Given the description of an element on the screen output the (x, y) to click on. 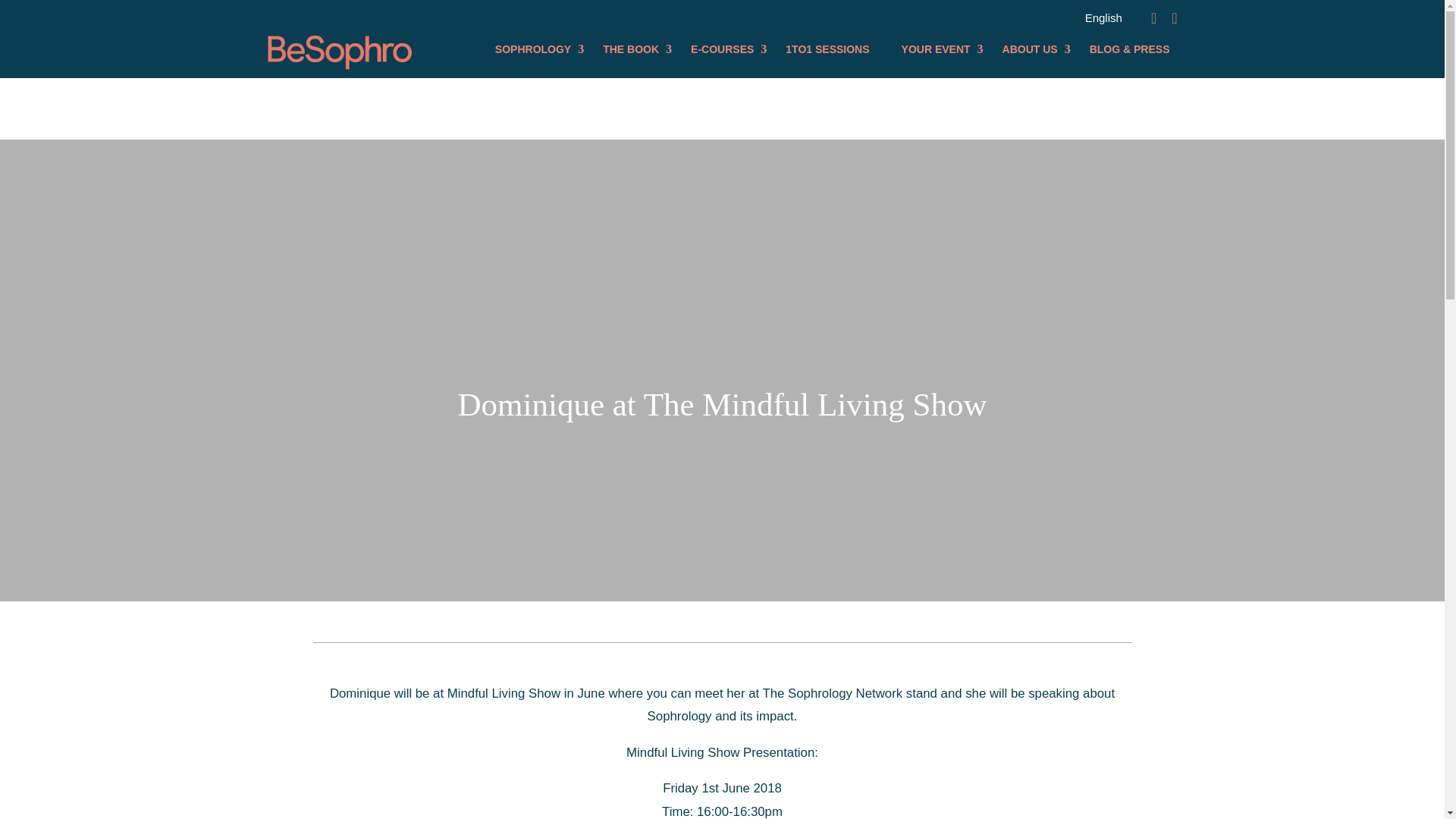
E-COURSES (721, 48)
YOUR EVENT (935, 48)
ABOUT US (1029, 48)
SOPHROLOGY (532, 48)
THE BOOK (630, 48)
1TO1 SESSIONS (826, 48)
English (1103, 16)
